Given the description of an element on the screen output the (x, y) to click on. 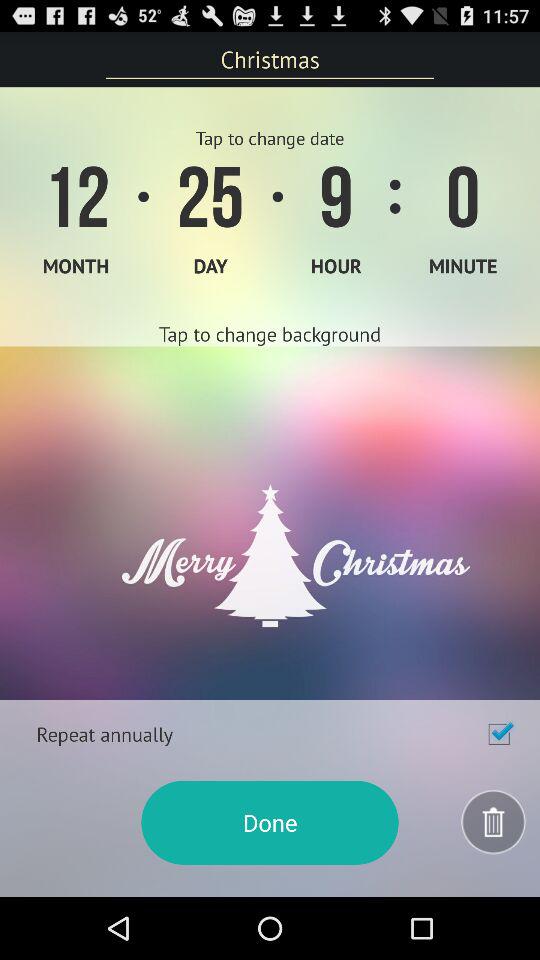
swipe until the christmas item (270, 59)
